Given the description of an element on the screen output the (x, y) to click on. 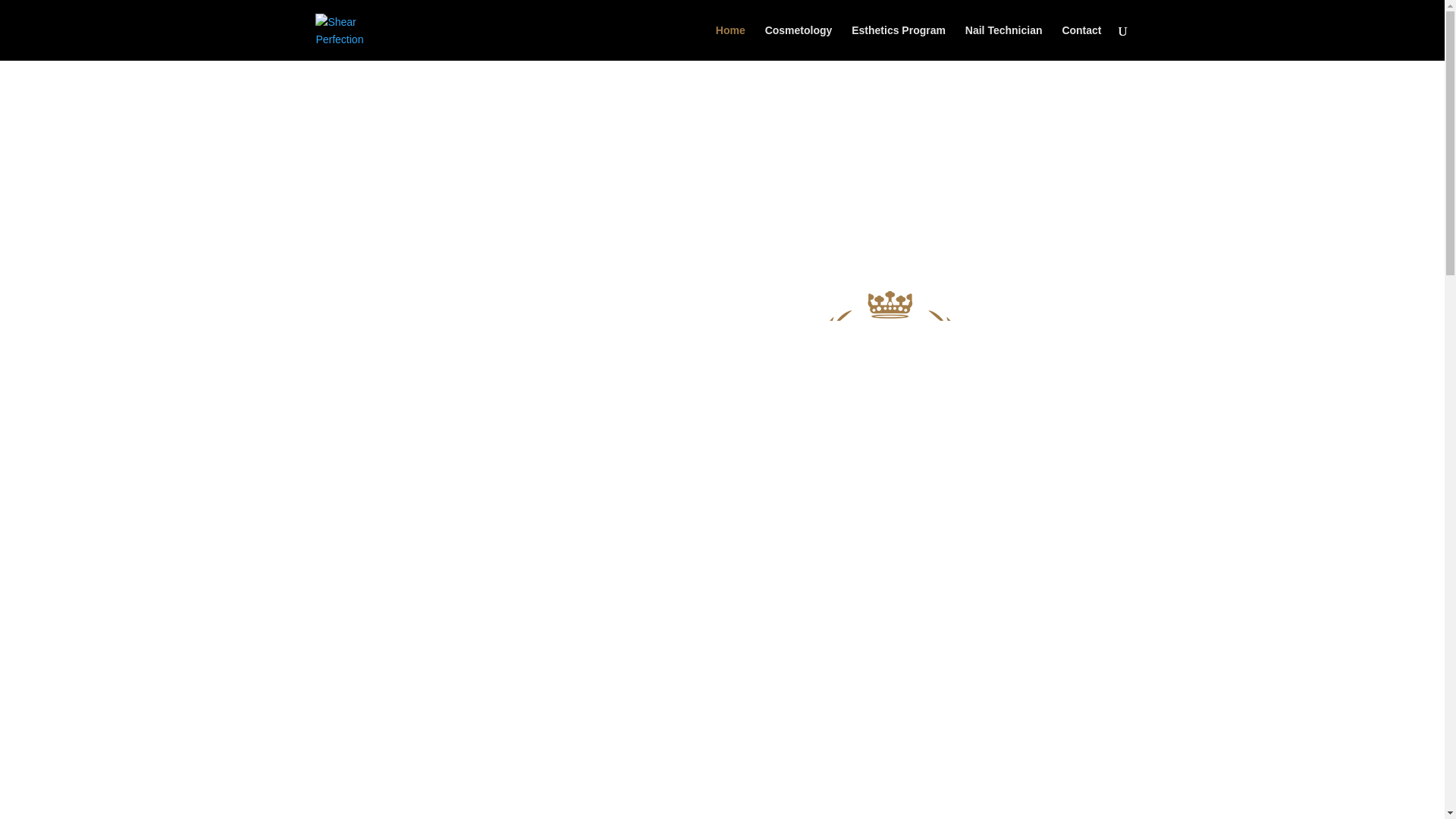
Contact (1080, 42)
SPAC Charlotte Beauty School Nashville TN (888, 431)
Esthetics Program (897, 42)
Cosmetology (798, 42)
Nail Technician (1003, 42)
